Given the description of an element on the screen output the (x, y) to click on. 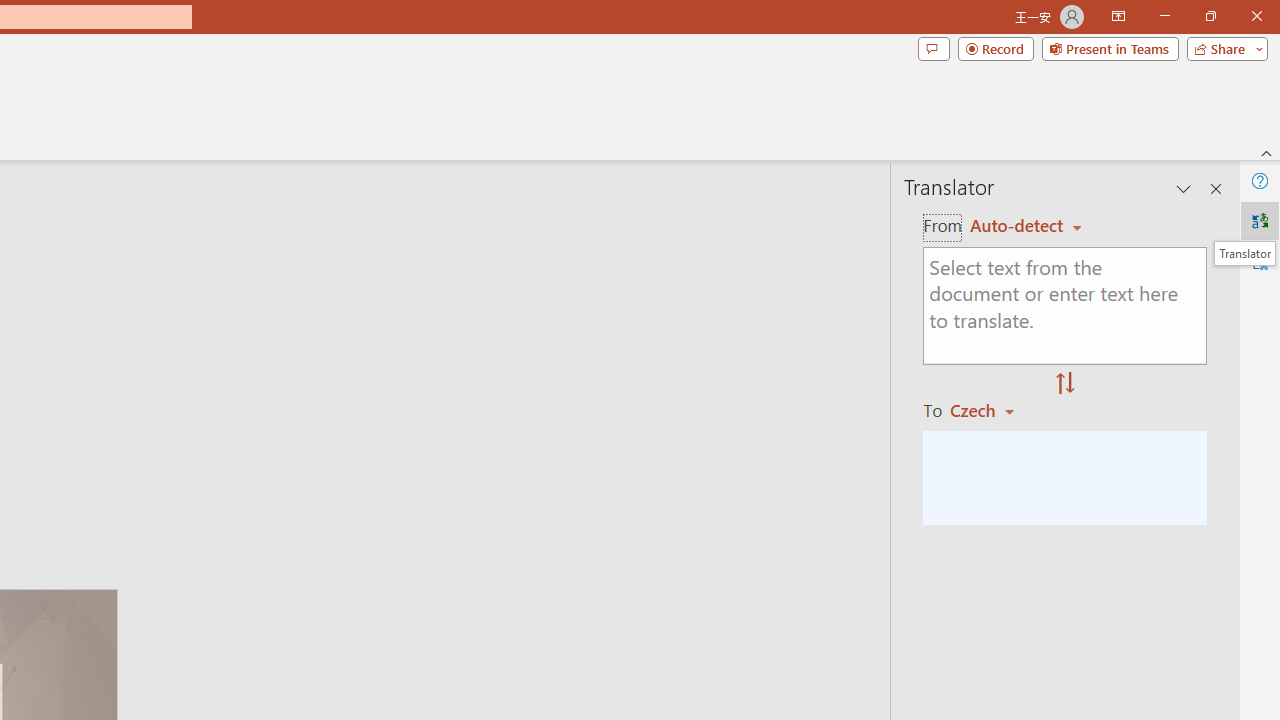
Czech (991, 409)
Translator (1260, 220)
